Given the description of an element on the screen output the (x, y) to click on. 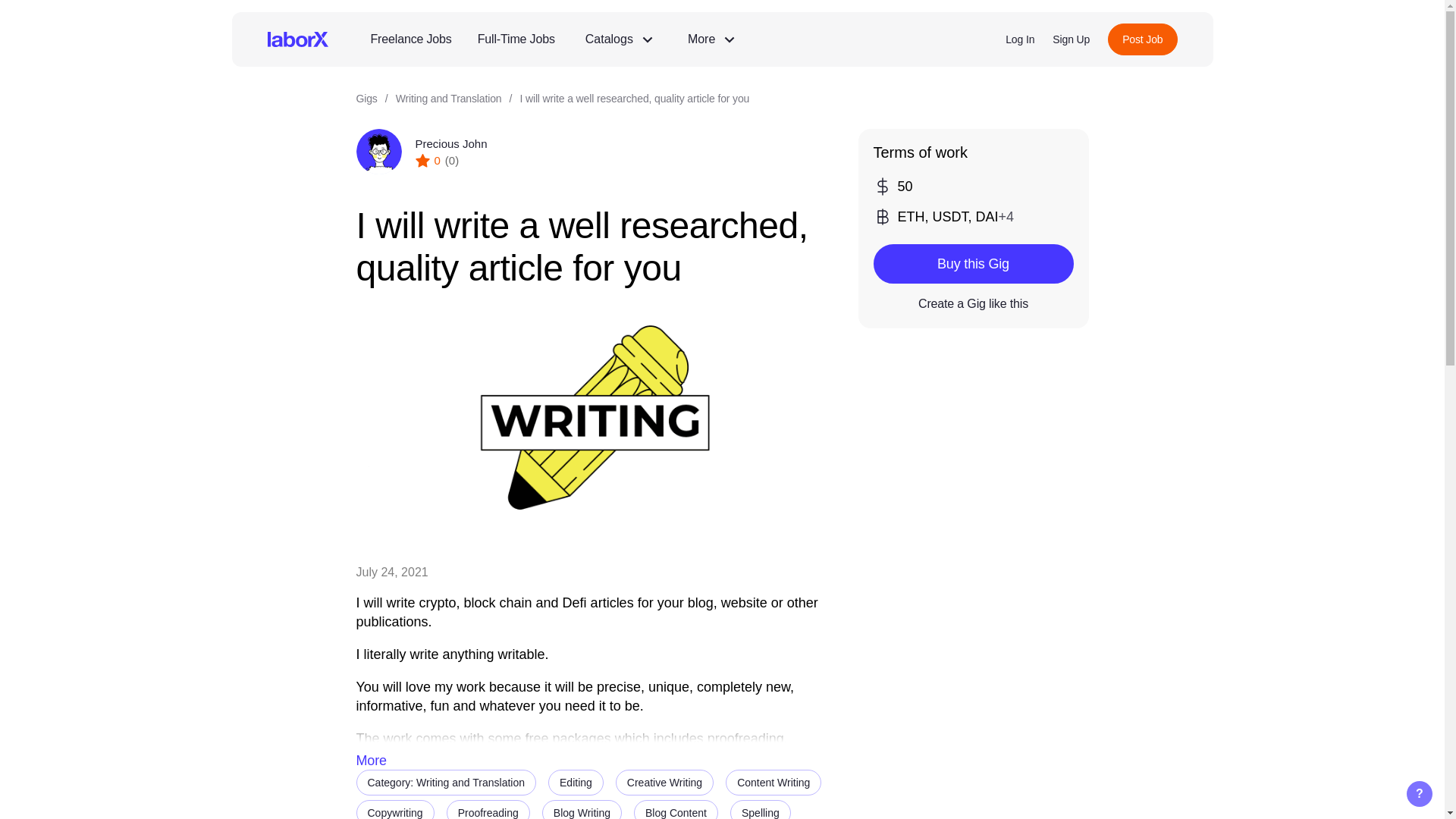
Post Job (1142, 39)
Catalogs (619, 39)
Creative Writing (664, 782)
Full-Time Jobs (515, 38)
Sign Up (1070, 39)
Writing and Translation (449, 98)
Create a Gig like this (973, 304)
Blog Content (675, 809)
More (710, 39)
Editing (576, 782)
More (371, 760)
Content Writing (773, 782)
Copywriting (394, 809)
Buy this Gig (973, 263)
Category: Writing and Translation (446, 782)
